Given the description of an element on the screen output the (x, y) to click on. 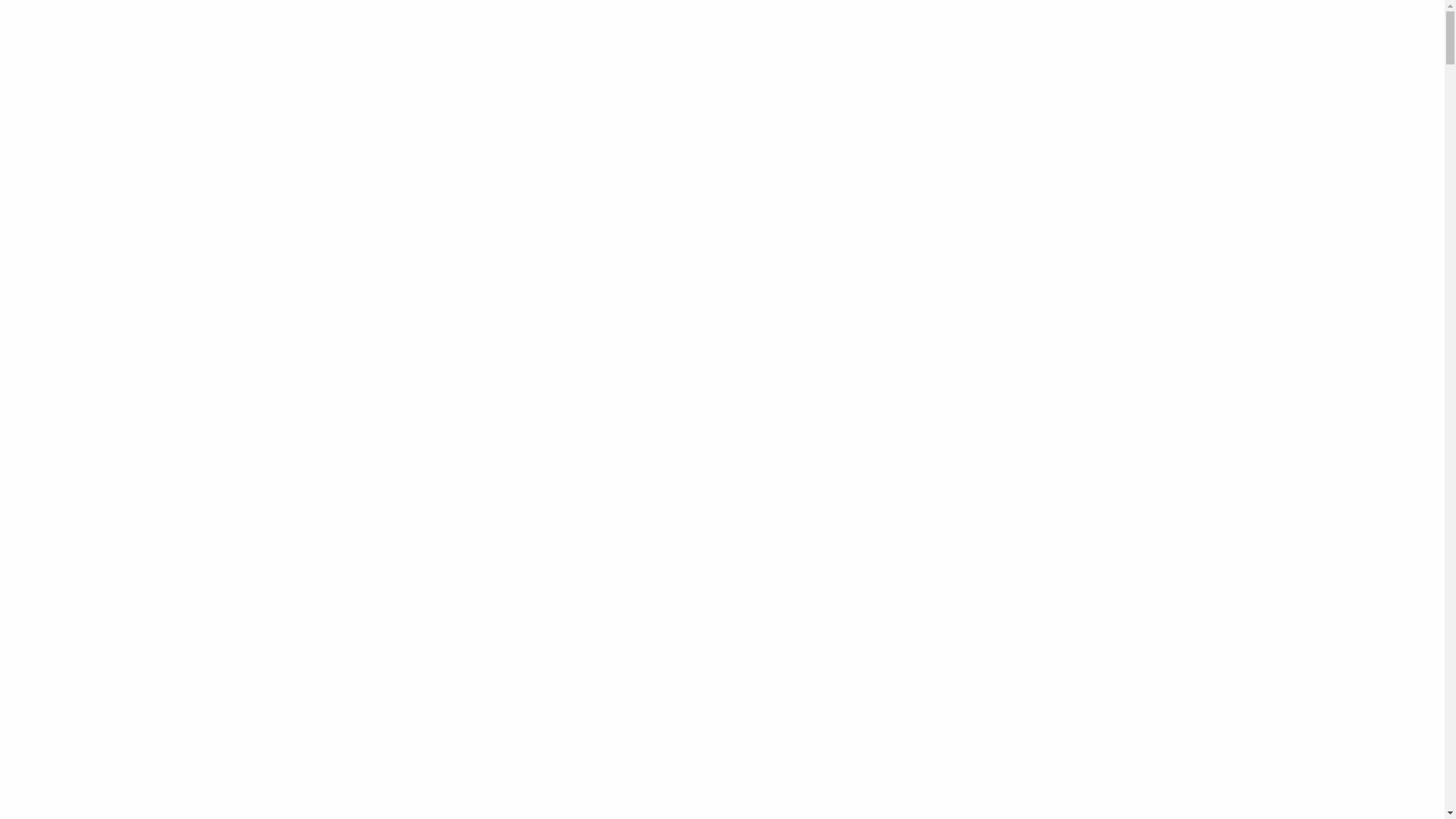
OVER ONS Element type: text (422, 119)
Hairstyle Melo Element type: text (569, 210)
PRIJSLIJST Element type: text (636, 119)
@HAIRSTYLE MELO Element type: text (722, 138)
CONTACT Element type: text (1078, 119)
Belgische Beauty Federatie (BBF) Element type: text (672, 333)
Hairstyle Melo Element type: text (572, 254)
KLANTEN Element type: text (1005, 119)
Beauty Jess - home Element type: hover (721, 53)
BOEK NU Element type: text (564, 119)
Lees meer. Element type: text (891, 799)
SERVICES Element type: text (495, 119)
OPENINGSUREN Element type: text (852, 119)
BESTEL CADEAUBON! Element type: text (737, 119)
GALERIJ Element type: text (936, 119)
HOME Element type: text (358, 119)
Bedankt Element type: text (963, 799)
